Given the description of an element on the screen output the (x, y) to click on. 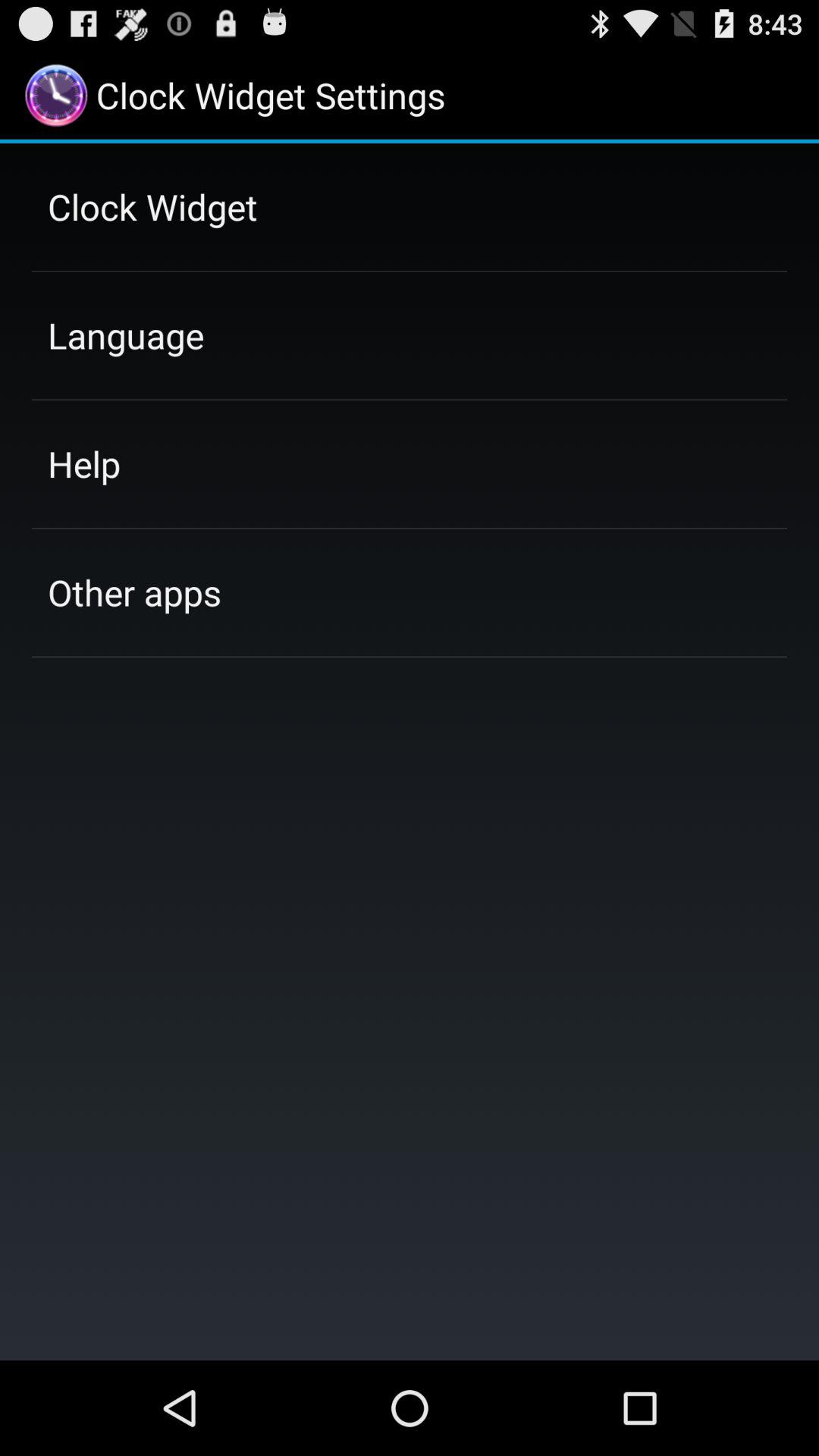
turn on app below language app (83, 463)
